Given the description of an element on the screen output the (x, y) to click on. 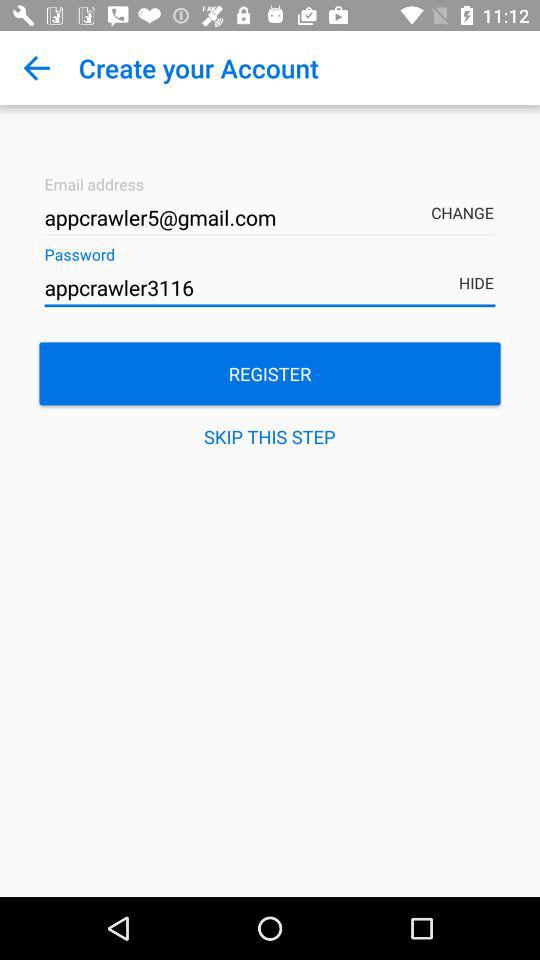
launch the item to the left of create your account icon (36, 68)
